Given the description of an element on the screen output the (x, y) to click on. 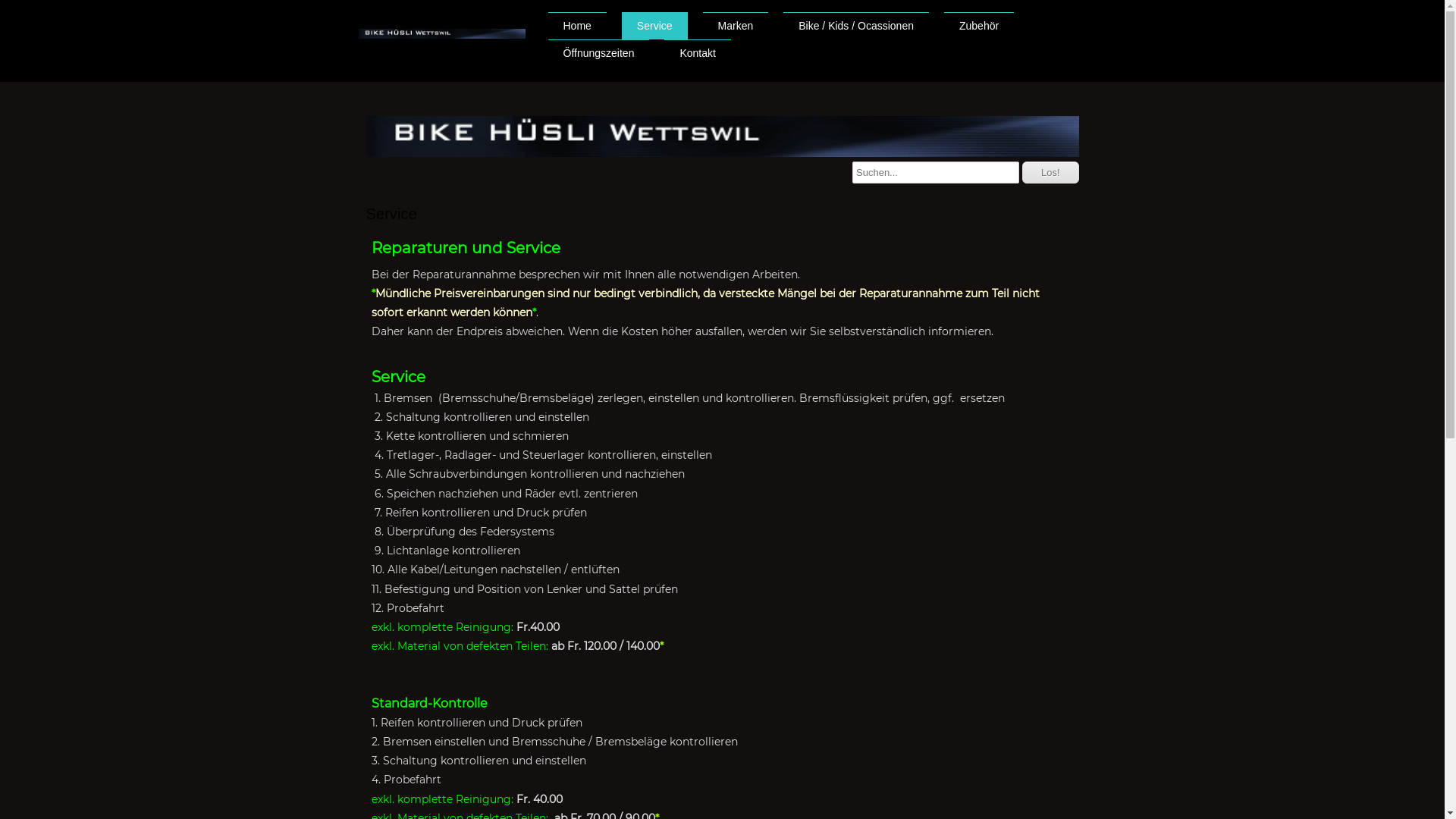
Bike / Kids / Ocassionen Element type: text (855, 25)
Service Element type: text (654, 25)
Kontakt Element type: text (697, 52)
Los! Element type: text (1050, 172)
Marken Element type: text (735, 25)
Home Element type: text (576, 25)
